Given the description of an element on the screen output the (x, y) to click on. 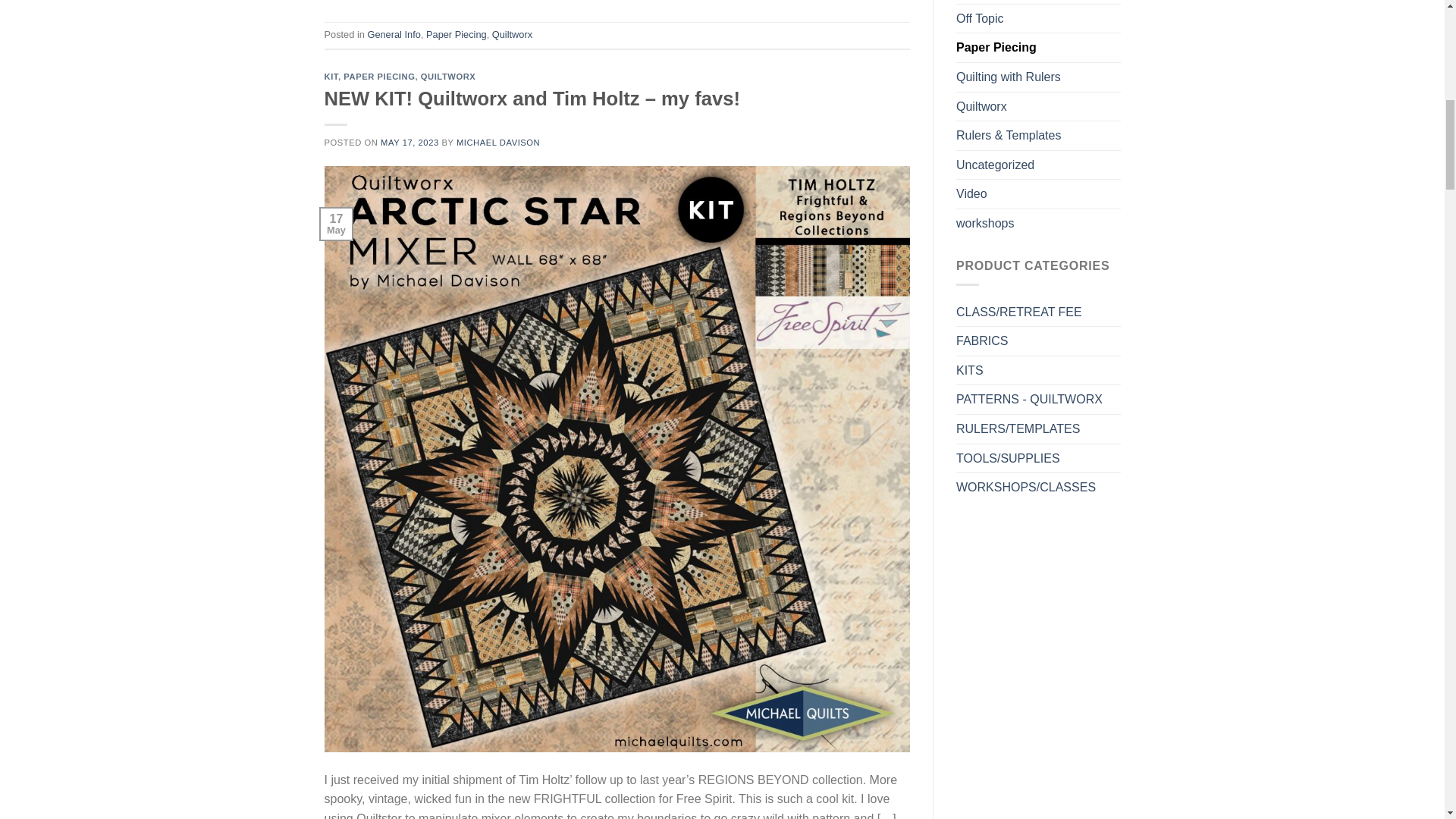
Paper Piecing (456, 34)
MAY 17, 2023 (409, 142)
General Info (393, 34)
MICHAEL DAVISON (498, 142)
KIT (330, 76)
Quiltworx (512, 34)
QUILTWORX (448, 76)
PAPER PIECING (378, 76)
